Given the description of an element on the screen output the (x, y) to click on. 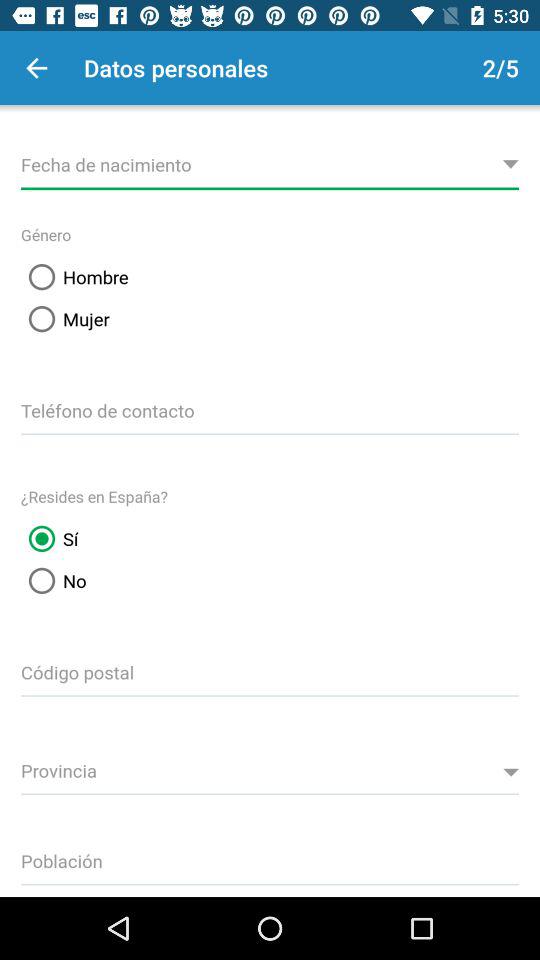
enter population details (270, 858)
